Given the description of an element on the screen output the (x, y) to click on. 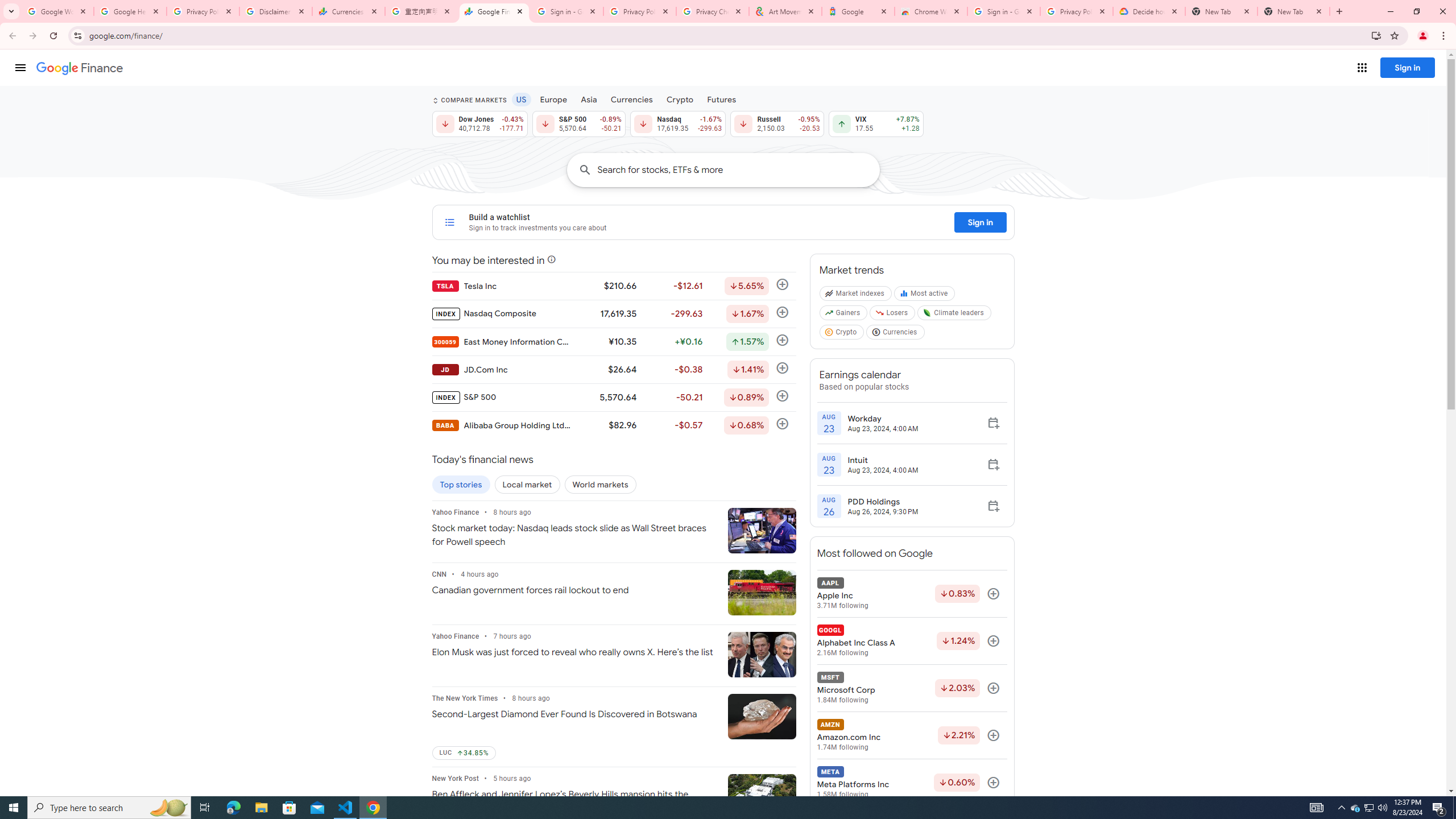
Search for stocks, ETFs & more (737, 169)
Local market (526, 484)
Address and search bar (726, 35)
Currencies (896, 334)
LUC Up by 34.85% (463, 753)
Workday (882, 418)
PDD Holdings (882, 501)
